Given the description of an element on the screen output the (x, y) to click on. 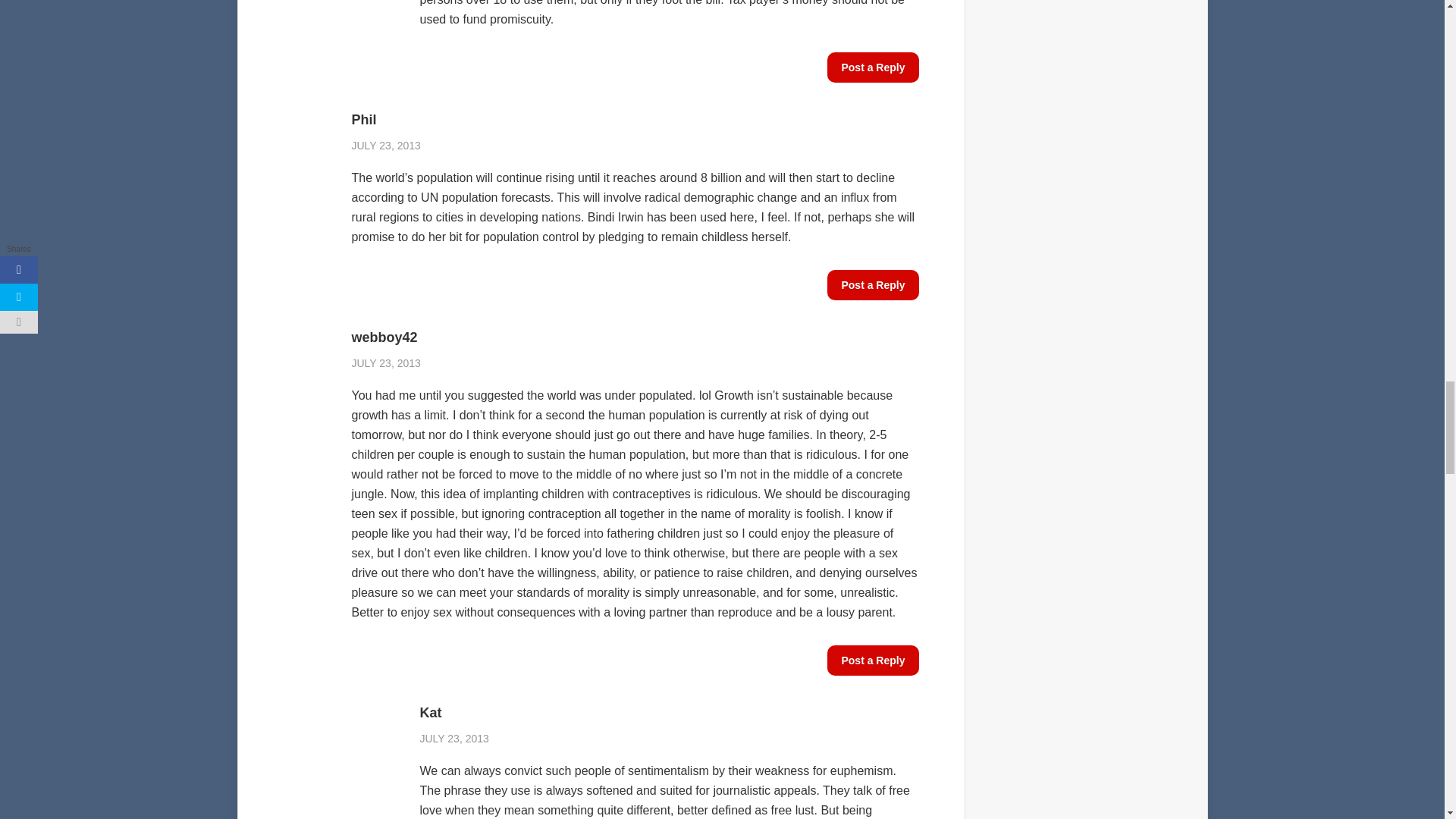
Post a Reply (872, 285)
Post a Reply (872, 67)
Post a Reply (872, 660)
